Given the description of an element on the screen output the (x, y) to click on. 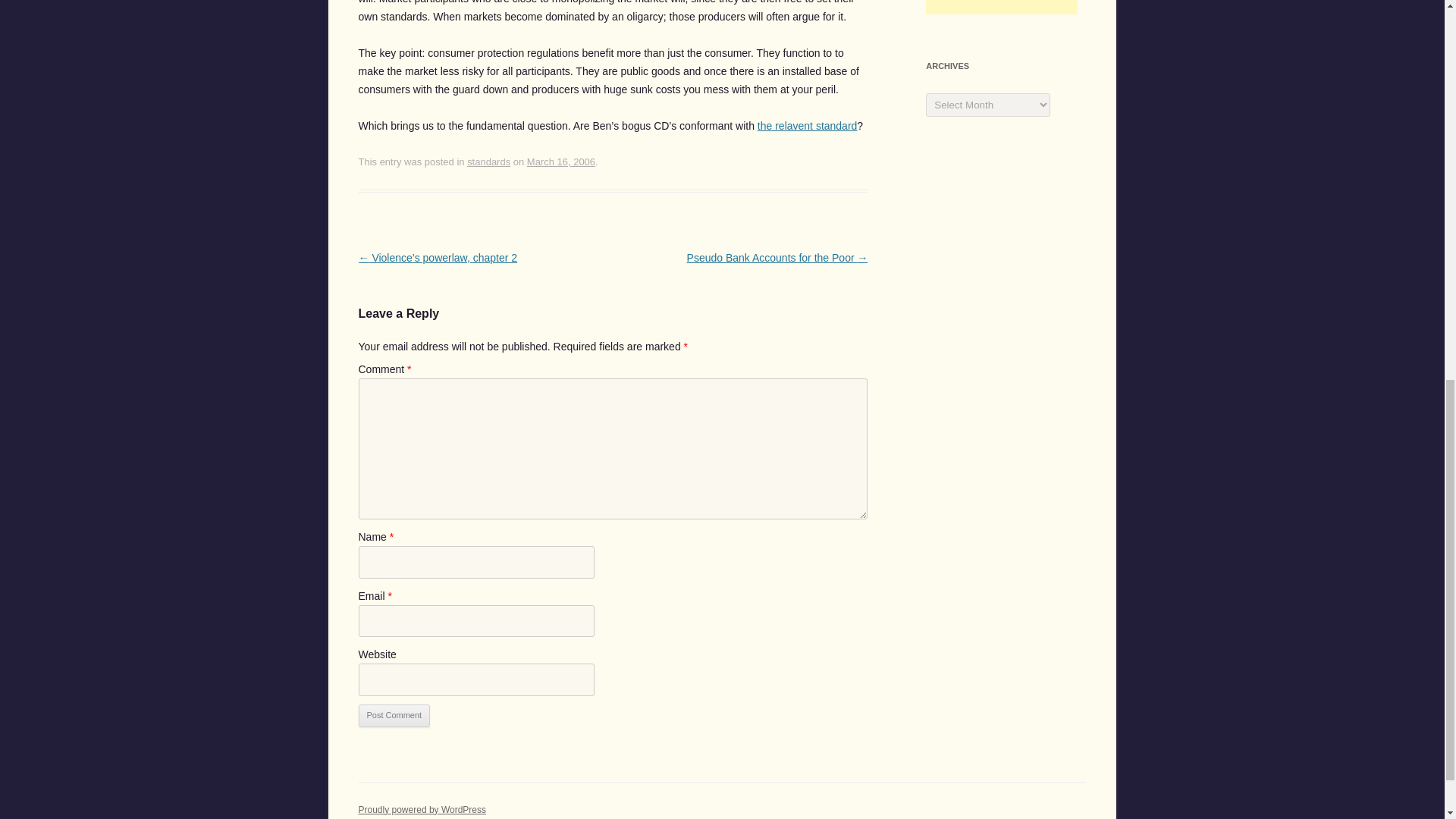
standards (489, 161)
Proudly powered by WordPress (422, 809)
Post Comment (393, 715)
Semantic Personal Publishing Platform (422, 809)
Post Comment (393, 715)
Advertisement (1001, 7)
the relavent standard (807, 125)
March 16, 2006 (561, 161)
9:06 am (561, 161)
